Given the description of an element on the screen output the (x, y) to click on. 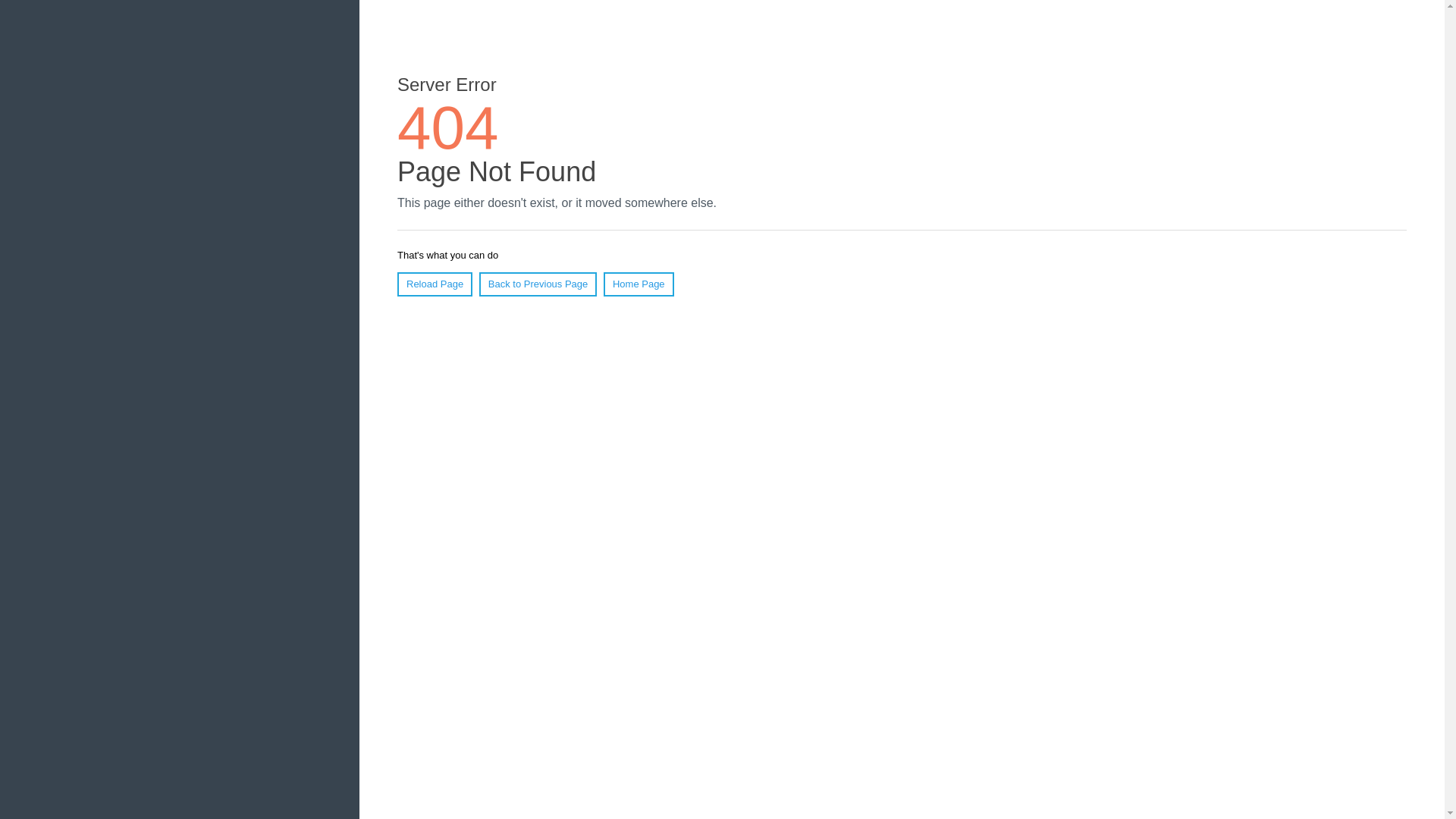
Reload Page (434, 283)
Home Page (639, 283)
Back to Previous Page (537, 283)
